Given the description of an element on the screen output the (x, y) to click on. 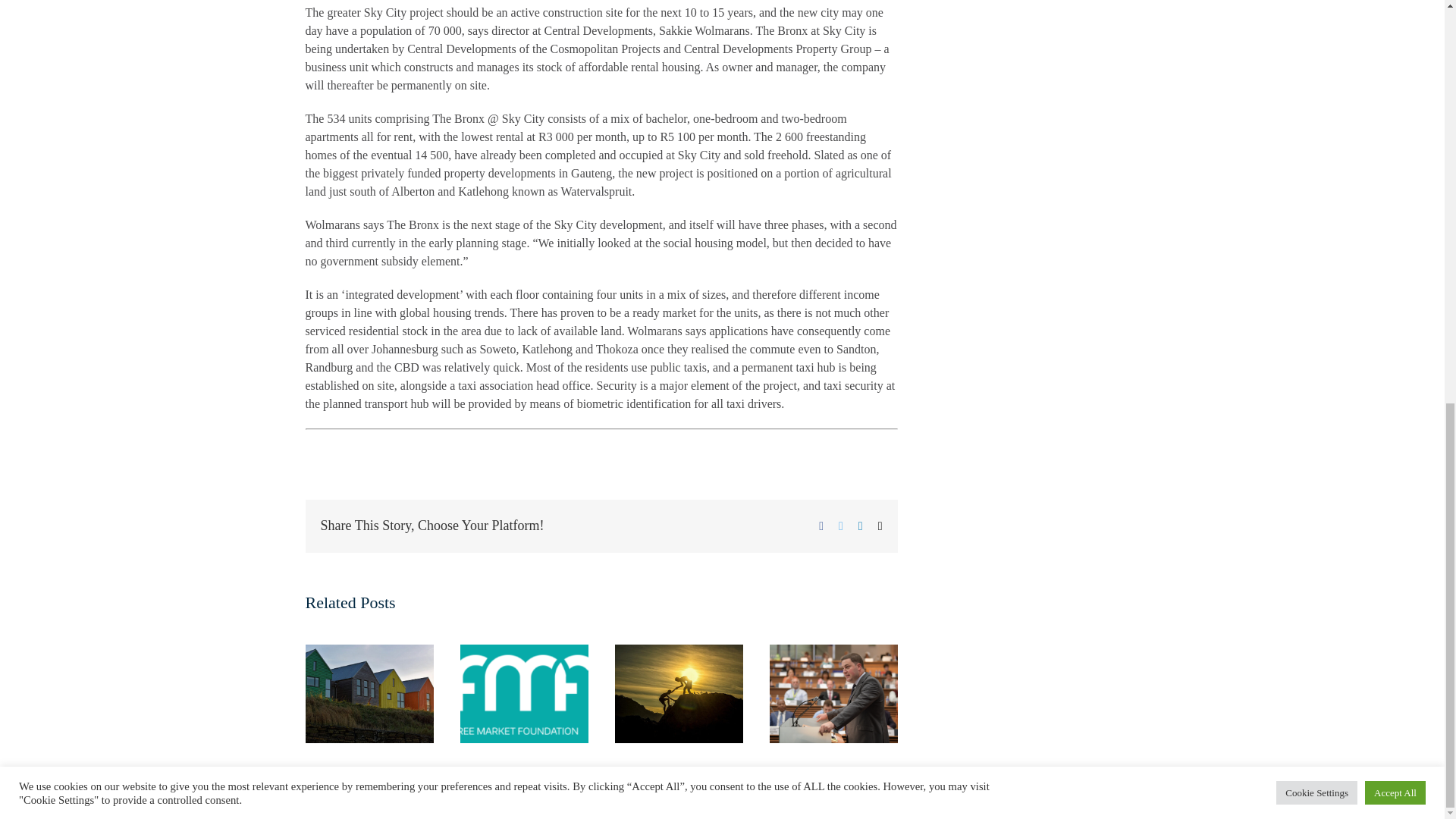
Cookie Settings (1316, 5)
Accept All (1395, 5)
